Given the description of an element on the screen output the (x, y) to click on. 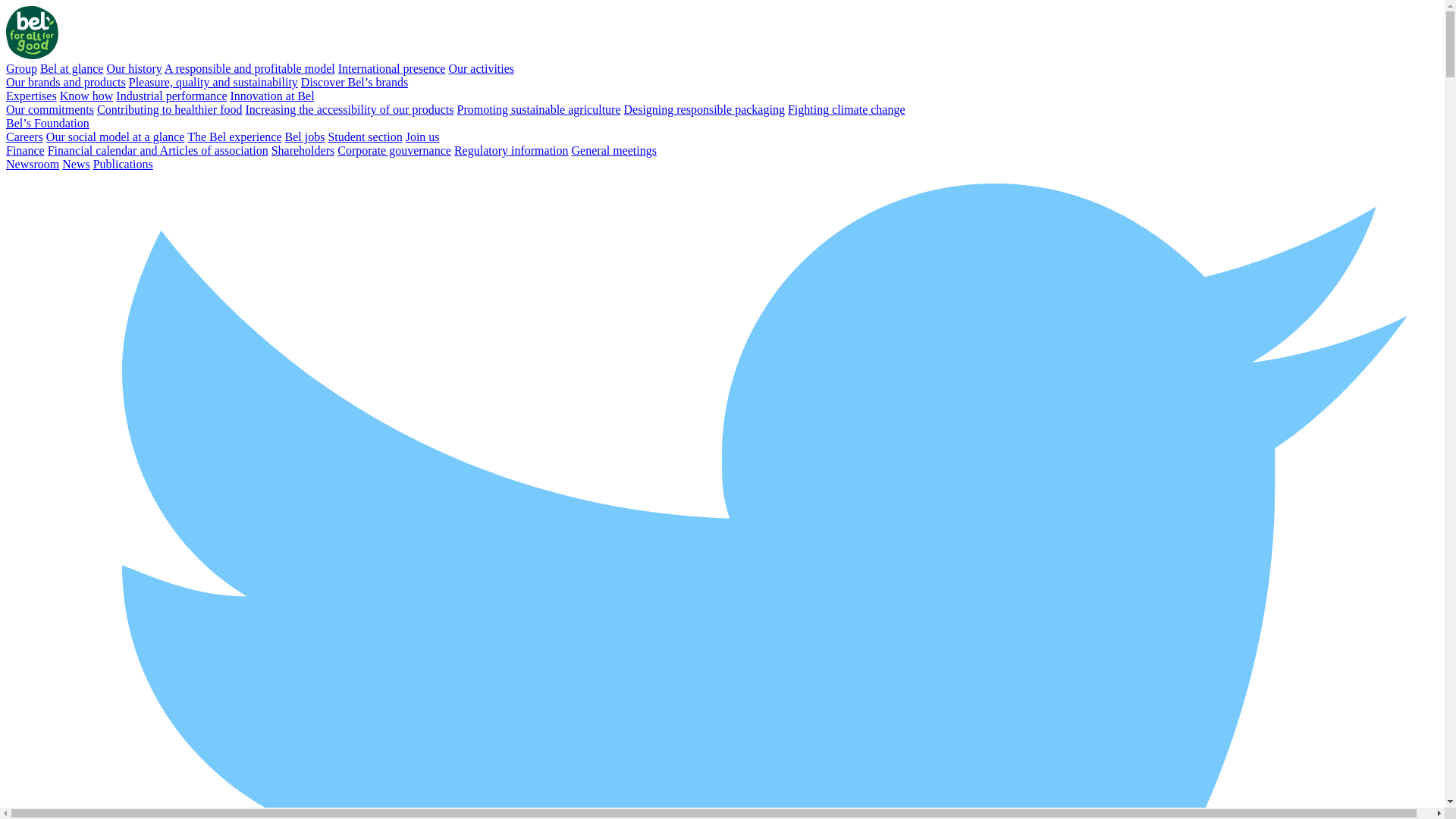
Finance Element type: text (25, 150)
Group Element type: text (21, 68)
Fighting climate change Element type: text (846, 109)
Bel jobs Element type: text (305, 136)
Expertises Element type: text (31, 95)
Know how Element type: text (86, 95)
International presence Element type: text (391, 68)
A responsible and profitable model Element type: text (249, 68)
Our brands and products Element type: text (65, 81)
Designing responsible packaging Element type: text (703, 109)
Contributing to healthier food Element type: text (169, 109)
Promoting sustainable agriculture Element type: text (539, 109)
Student section Element type: text (364, 136)
Bel at glance Element type: text (71, 68)
Publications Element type: text (123, 163)
General meetings Element type: text (613, 150)
Newsroom Element type: text (32, 163)
Regulatory information Element type: text (511, 150)
Shareholders Element type: text (303, 150)
Our history Element type: text (133, 68)
Careers Element type: text (24, 136)
Join us Element type: text (422, 136)
Pleasure, quality and sustainability Element type: text (213, 81)
Financial calendar and Articles of association Element type: text (157, 150)
Our social model at a glance Element type: text (115, 136)
Industrial performance Element type: text (171, 95)
Our activities Element type: text (481, 68)
Innovation at Bel Element type: text (271, 95)
The Bel experience Element type: text (234, 136)
Increasing the accessibility of our products Element type: text (349, 109)
Our commitments Element type: text (50, 109)
News Element type: text (75, 163)
Corporate gouvernance Element type: text (394, 150)
